Given the description of an element on the screen output the (x, y) to click on. 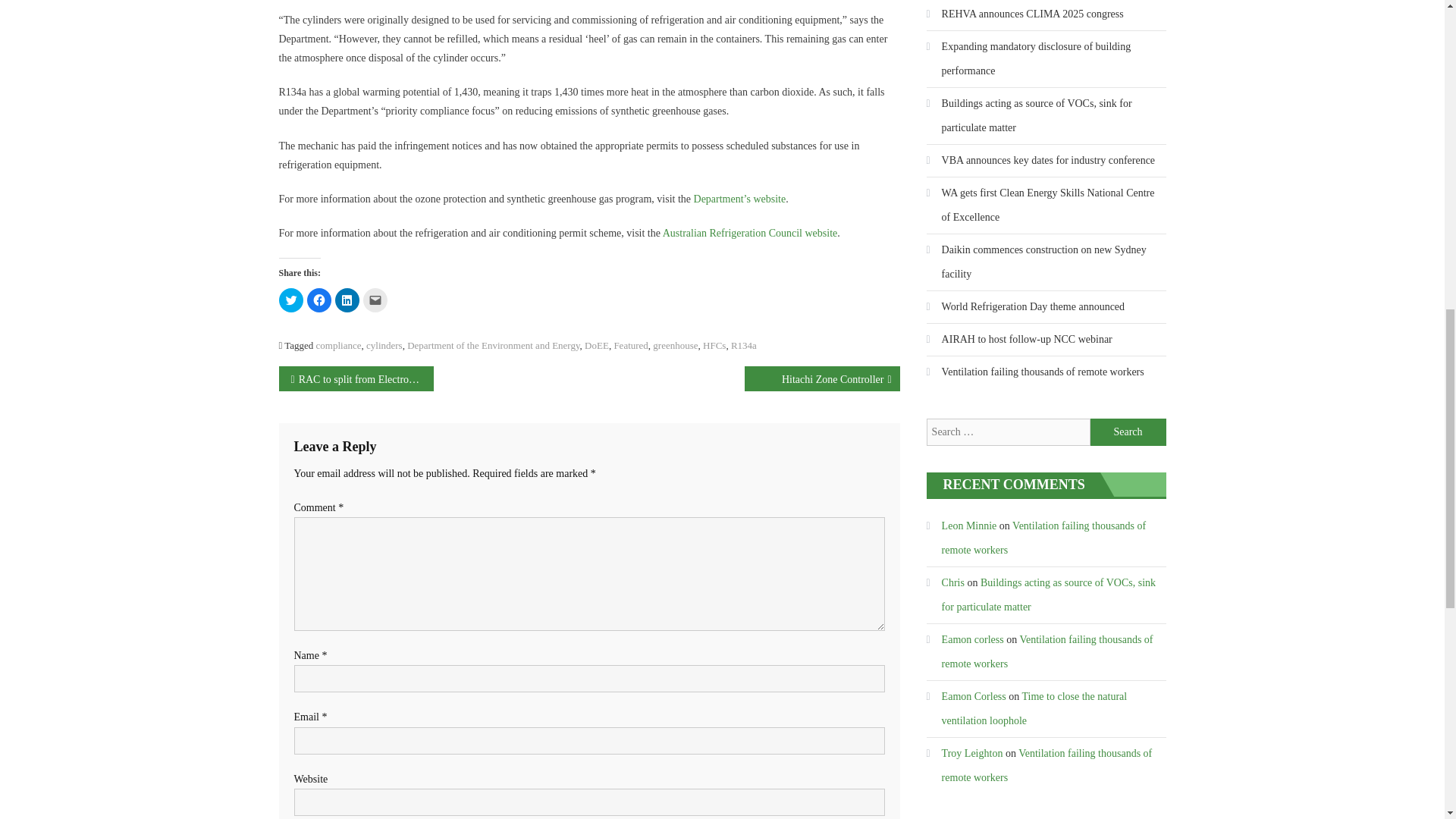
cylinders (384, 345)
Click to share on Twitter (290, 300)
Click to email a link to a friend (374, 300)
Search (1128, 431)
Search (1128, 431)
greenhouse (674, 345)
Click to share on Facebook (317, 300)
Featured (629, 345)
Department of the Environment and Energy (493, 345)
DoEE (596, 345)
